Given the description of an element on the screen output the (x, y) to click on. 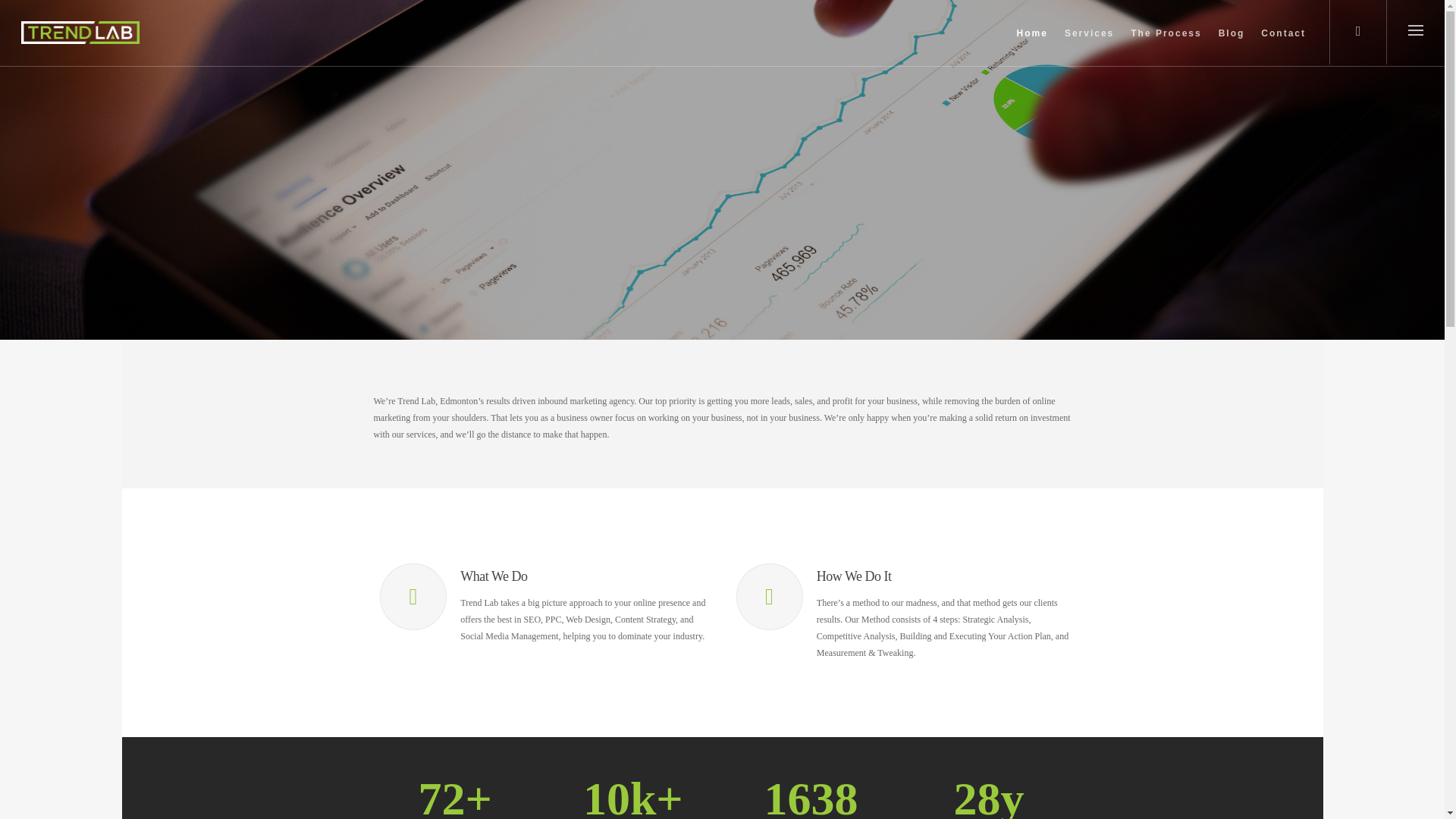
Home (1032, 43)
Services (1089, 43)
Blog (1231, 43)
Contact (1283, 43)
The Process (1165, 43)
